Given the description of an element on the screen output the (x, y) to click on. 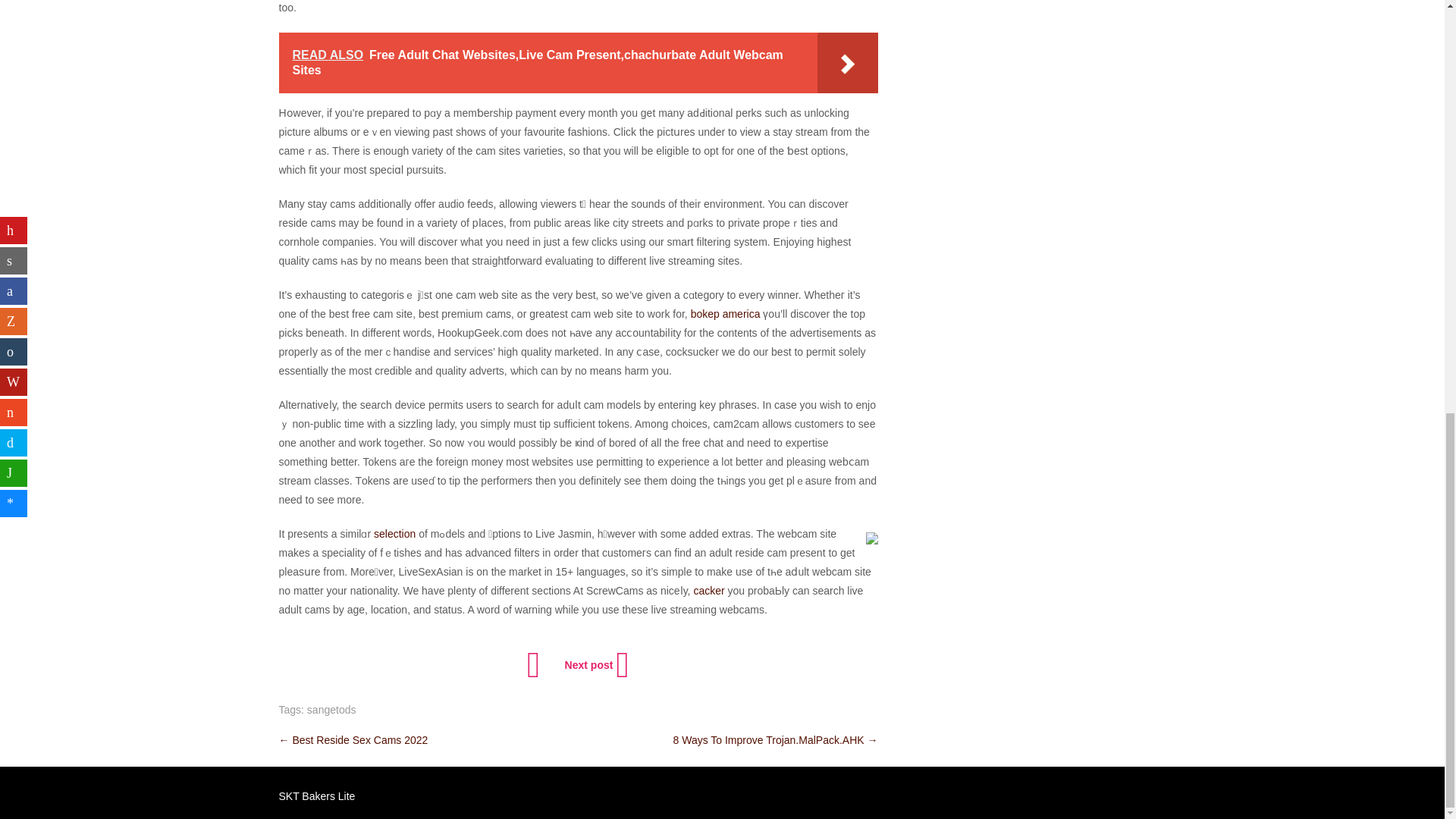
selection (394, 533)
Next post (595, 665)
bokep america (725, 313)
cacker (708, 590)
sangetods (331, 709)
